Given the description of an element on the screen output the (x, y) to click on. 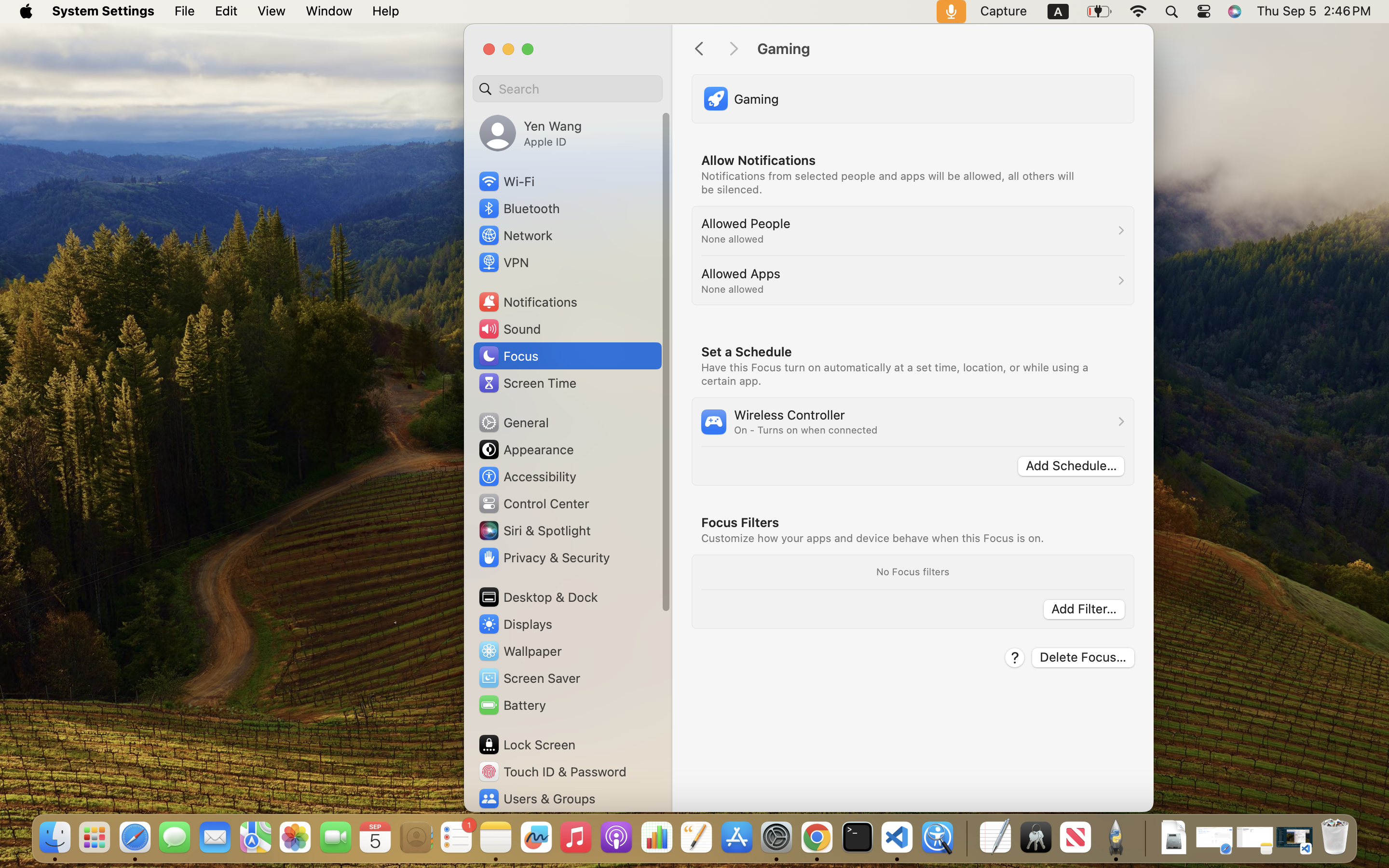
Network Element type: AXStaticText (514, 234)
Wallpaper Element type: AXStaticText (519, 650)
Desktop & Dock Element type: AXStaticText (537, 596)
No Focus filters Element type: AXStaticText (912, 571)
Battery Element type: AXStaticText (511, 704)
